Given the description of an element on the screen output the (x, y) to click on. 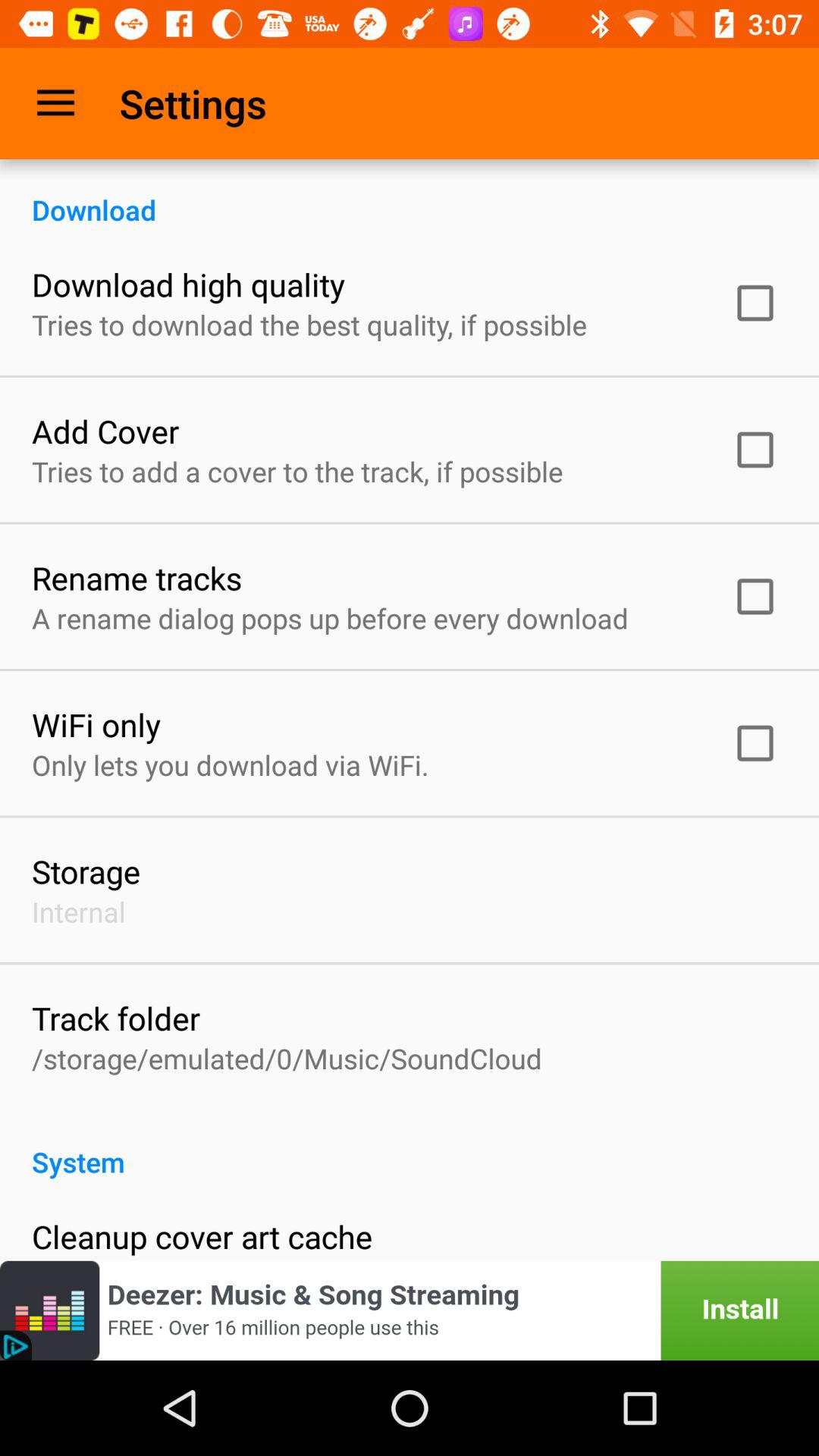
go to commercial (409, 1310)
